Given the description of an element on the screen output the (x, y) to click on. 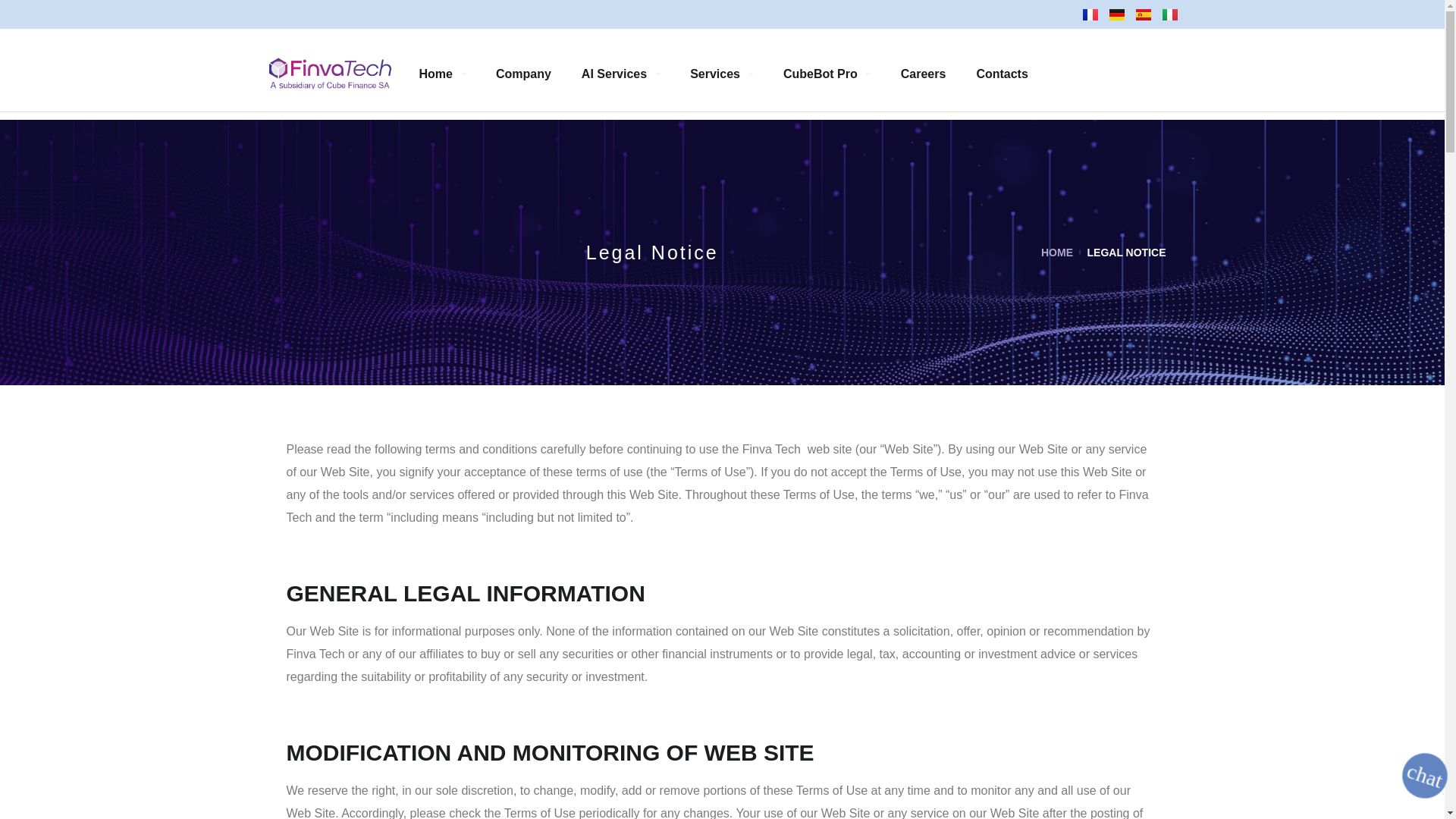
AI Services (619, 73)
CubeBot Pro (826, 73)
